Given the description of an element on the screen output the (x, y) to click on. 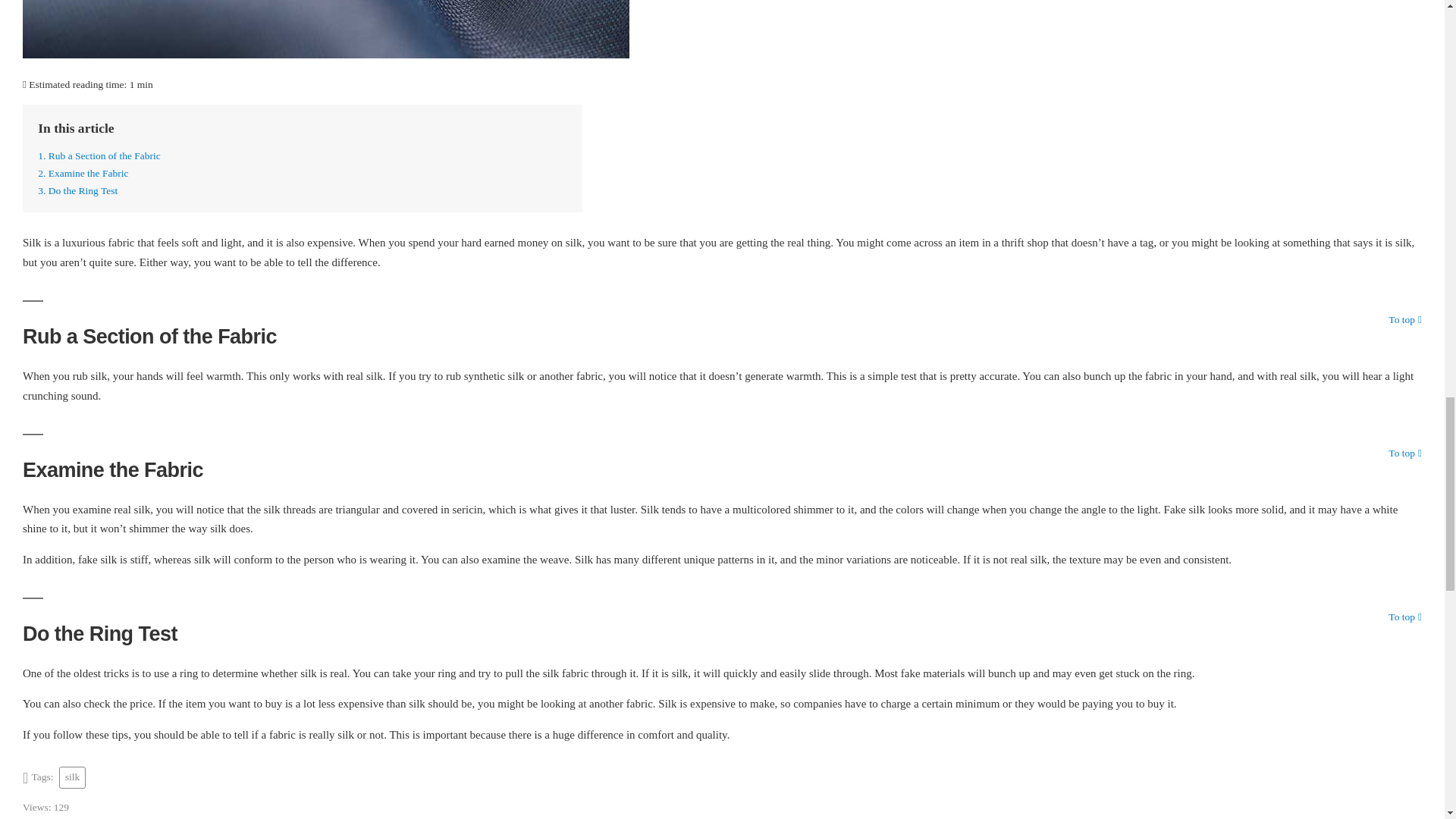
To top (1405, 319)
3. Do the Ring Test (77, 190)
1. Rub a Section of the Fabric (98, 155)
To top (1405, 319)
To top (1405, 452)
silk (72, 777)
2. Examine the Fabric (82, 173)
To top (1405, 616)
To top (1405, 452)
To top (1405, 616)
